Given the description of an element on the screen output the (x, y) to click on. 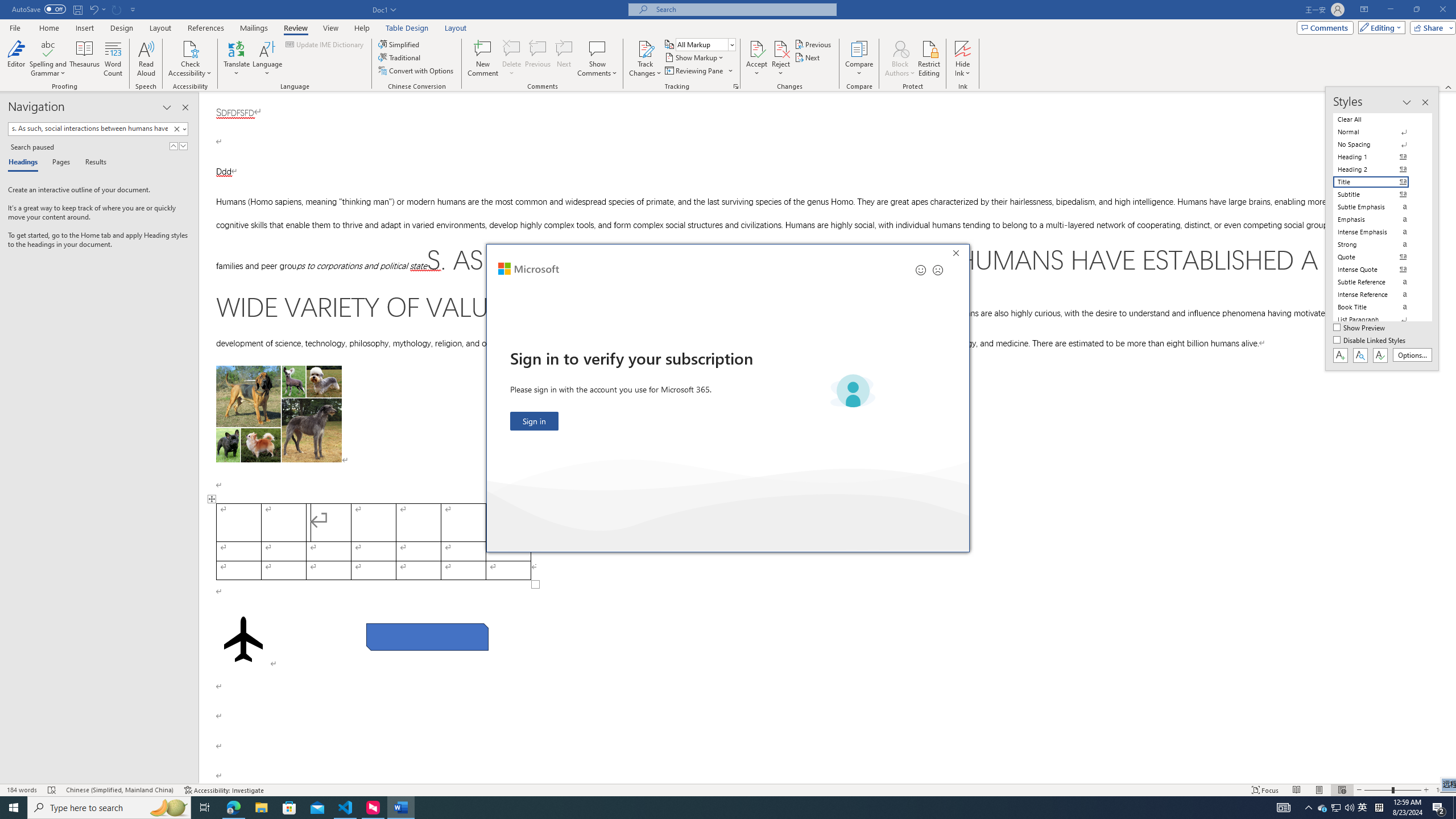
Accept and Move to Next (756, 48)
Heading 2 (1377, 169)
New Comment (482, 58)
File Explorer (261, 807)
Clear All (1377, 119)
No Spacing (1377, 144)
Show Markup (695, 56)
Change Tracking Options... (735, 85)
